Given the description of an element on the screen output the (x, y) to click on. 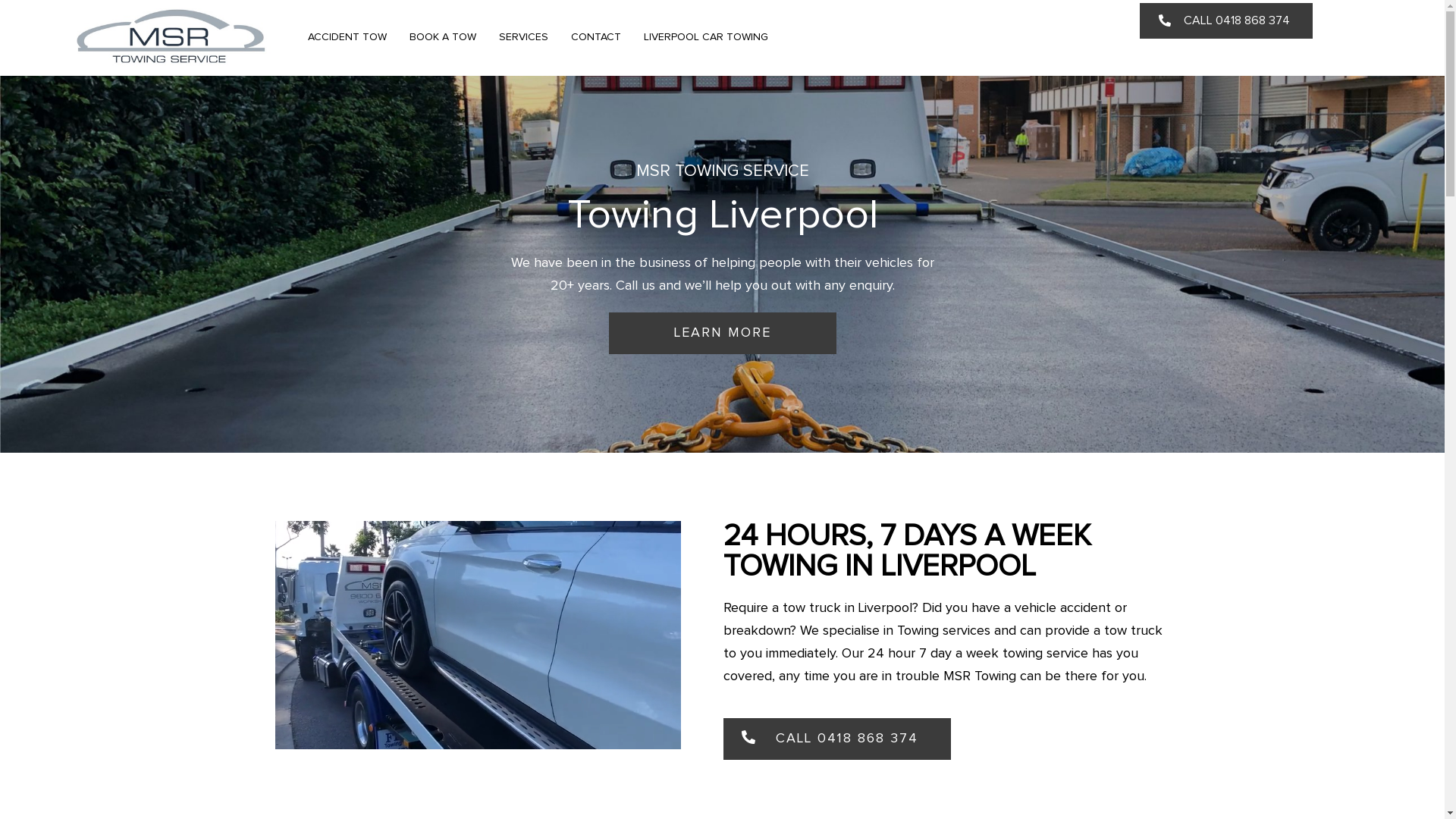
CALL 0418 868 374 Element type: text (836, 738)
SERVICES Element type: text (523, 36)
CALL 0418 868 374 Element type: text (1225, 20)
LIVERPOOL CAR TOWING Element type: text (705, 36)
CONTACT Element type: text (595, 36)
ACCIDENT TOW Element type: text (347, 36)
LEARN MORE Element type: text (721, 333)
BOOK A TOW Element type: text (442, 36)
